Given the description of an element on the screen output the (x, y) to click on. 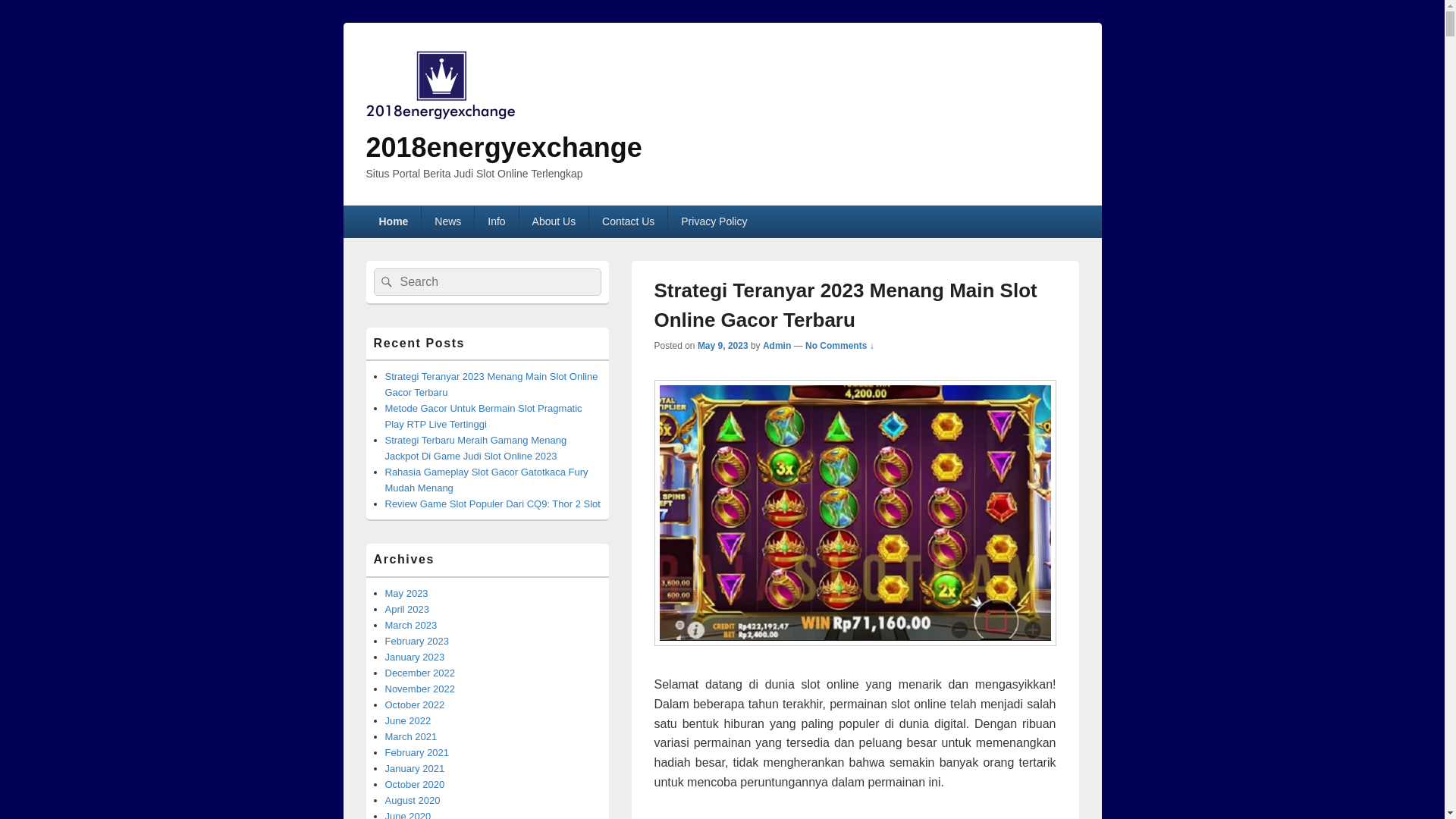
October 2022 Element type: text (415, 704)
February 2023 Element type: text (417, 640)
October 2020 Element type: text (415, 784)
January 2023 Element type: text (415, 656)
Home Element type: text (392, 221)
March 2021 Element type: text (411, 736)
Search for: Element type: hover (486, 281)
March 2023 Element type: text (411, 624)
January 2021 Element type: text (415, 768)
February 2021 Element type: text (417, 752)
November 2022 Element type: text (420, 688)
2018energyexchange Element type: text (503, 147)
August 2020 Element type: text (412, 800)
May 2023 Element type: text (406, 593)
Contact Us Element type: text (628, 221)
April 2023 Element type: text (407, 609)
June 2022 Element type: text (408, 720)
Search Element type: text (384, 281)
Admin Element type: text (776, 345)
Review Game Slot Populer Dari CQ9: Thor 2 Slot Element type: text (492, 503)
Strategi Teranyar 2023 Menang Main Slot Online Gacor Terbaru Element type: text (844, 305)
May 9, 2023 Element type: text (722, 345)
December 2022 Element type: text (420, 672)
Strategi Teranyar 2023 Menang Main Slot Online Gacor Terbaru Element type: text (491, 384)
News Element type: text (447, 221)
Privacy Policy Element type: text (713, 221)
Rahasia Gameplay Slot Gacor Gatotkaca Fury Mudah Menang Element type: text (486, 479)
Info Element type: text (495, 221)
About Us Element type: text (554, 221)
